Given the description of an element on the screen output the (x, y) to click on. 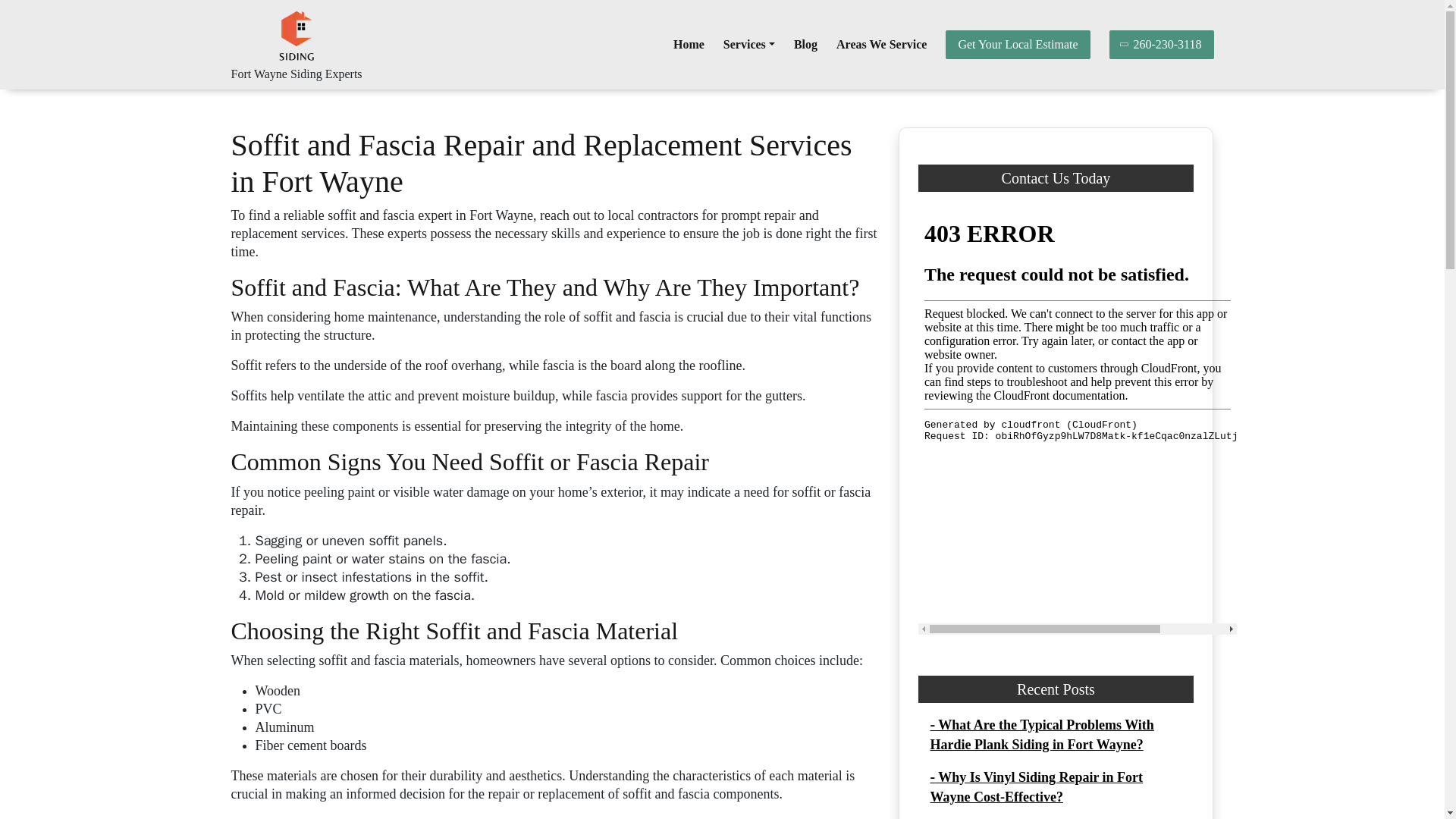
Home (688, 44)
Get Your Local Estimate (1016, 44)
Areas We Service (880, 44)
Services (748, 44)
- Why Is Vinyl Siding Repair in Fort Wayne Cost-Effective? (1036, 786)
Home (688, 44)
Services (748, 44)
260-230-3118 (1161, 44)
Fort Wayne Siding Experts (295, 73)
